Given the description of an element on the screen output the (x, y) to click on. 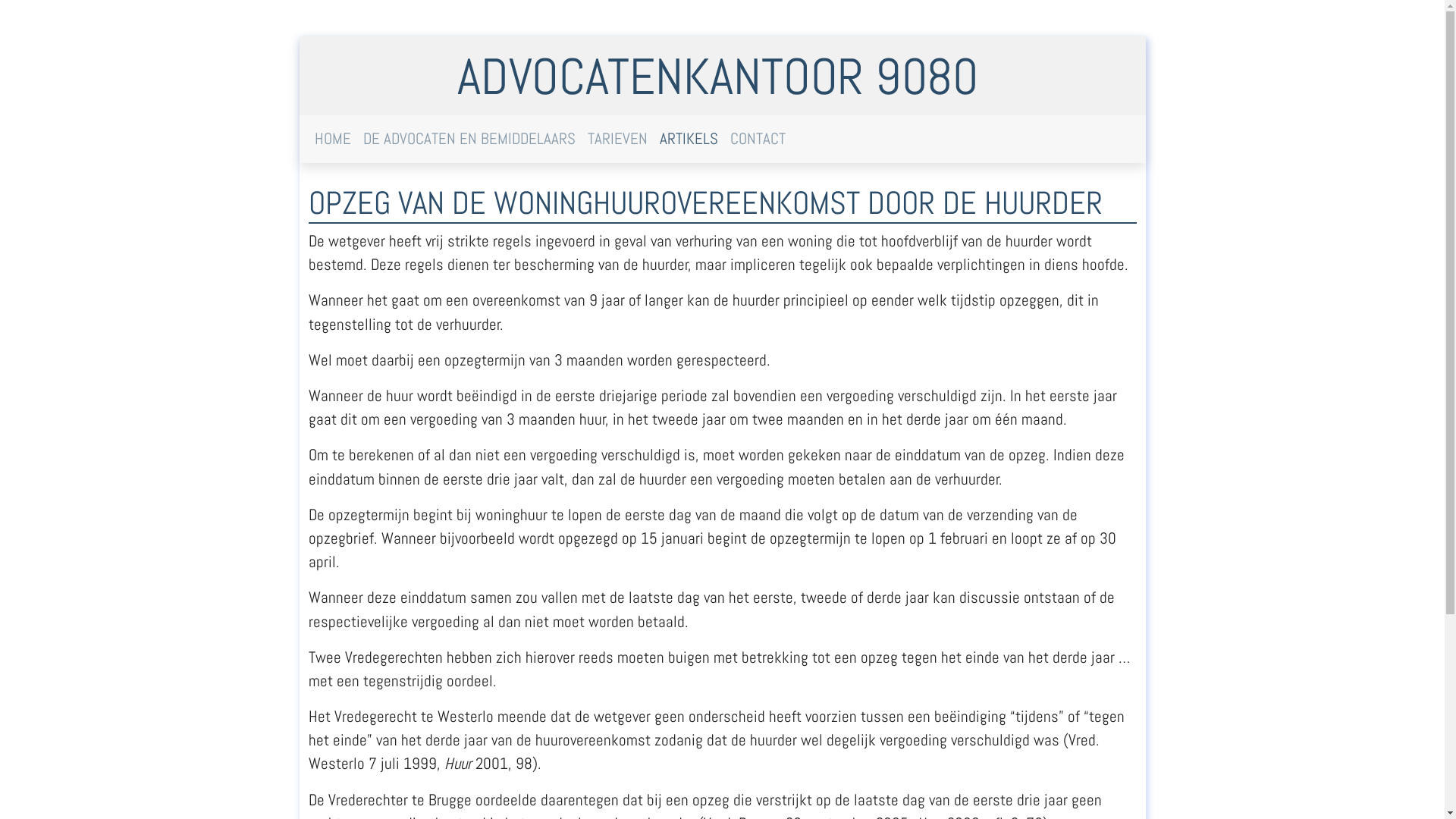
TARIEVEN Element type: text (616, 138)
DE ADVOCATEN EN BEMIDDELAARS Element type: text (468, 138)
CONTACT Element type: text (756, 138)
HOME Element type: text (331, 138)
ARTIKELS Element type: text (688, 138)
